Given the description of an element on the screen output the (x, y) to click on. 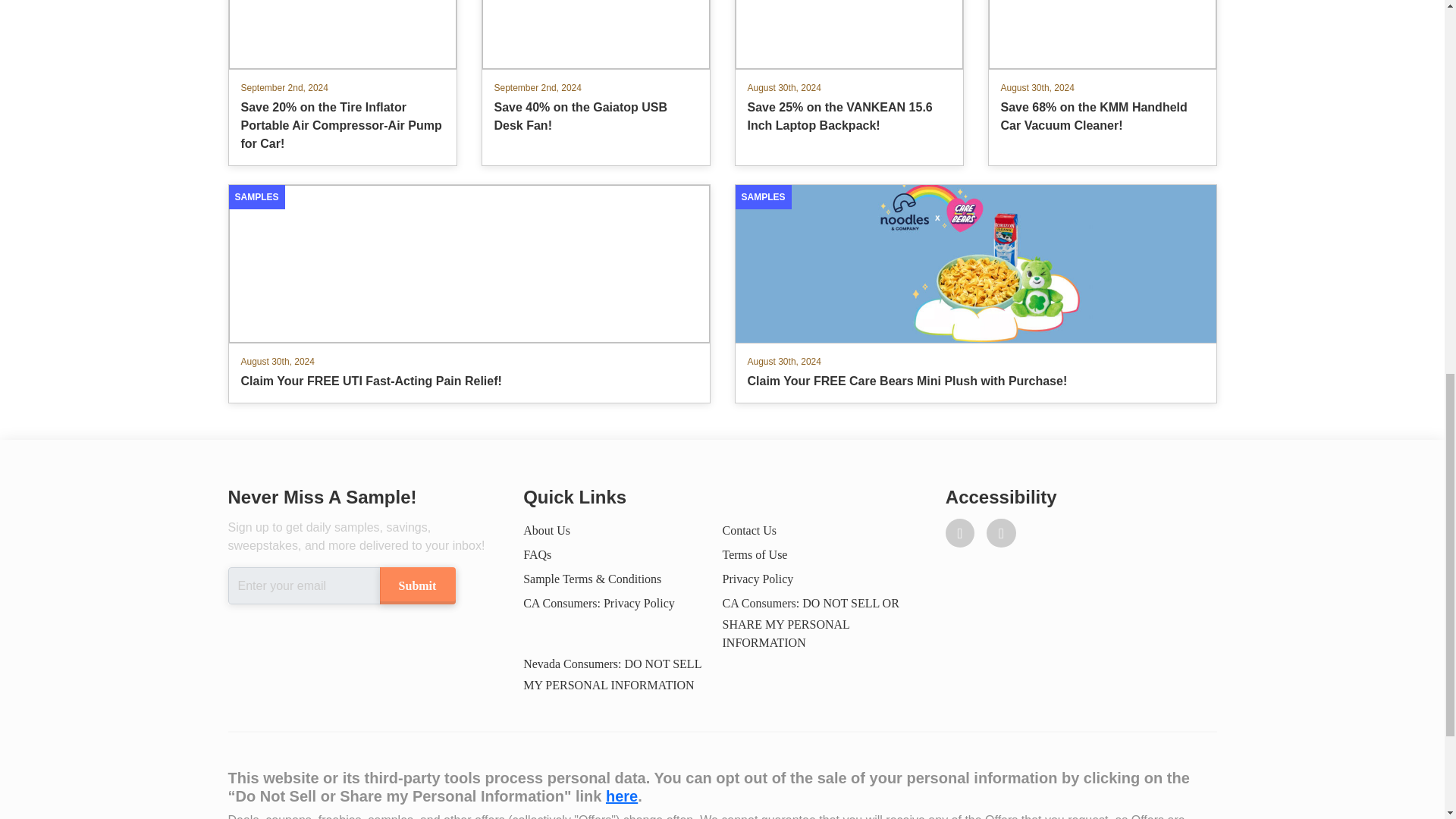
Terms of Use (754, 554)
FAQs (536, 554)
Privacy Policy (757, 578)
Submit (416, 585)
here (621, 795)
About Us (546, 530)
CA Consumers: Privacy Policy (598, 603)
Contact Us (749, 530)
Nevada Consumers: DO NOT SELL MY PERSONAL INFORMATION (611, 674)
